Given the description of an element on the screen output the (x, y) to click on. 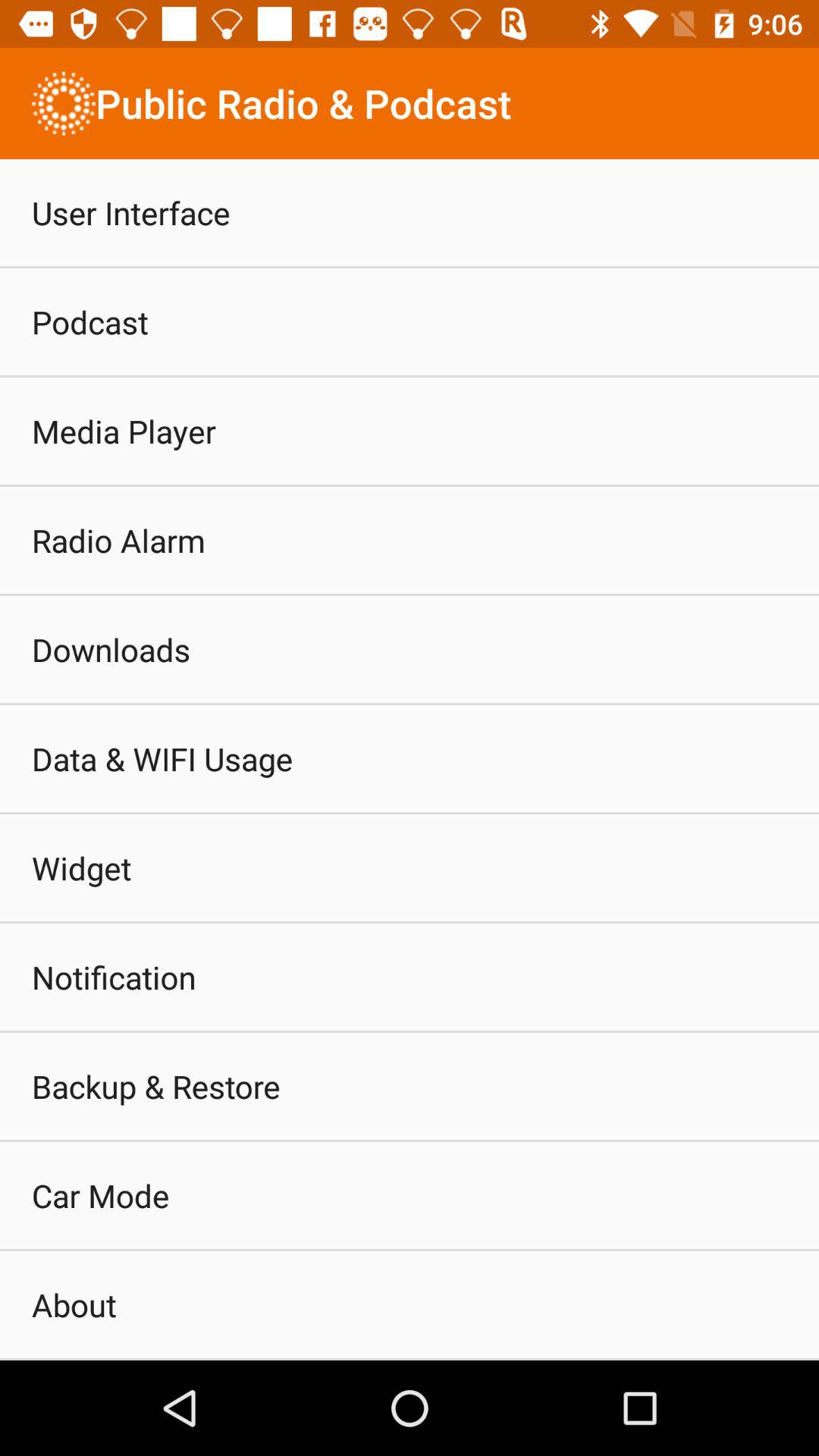
launch the icon above about item (100, 1195)
